Given the description of an element on the screen output the (x, y) to click on. 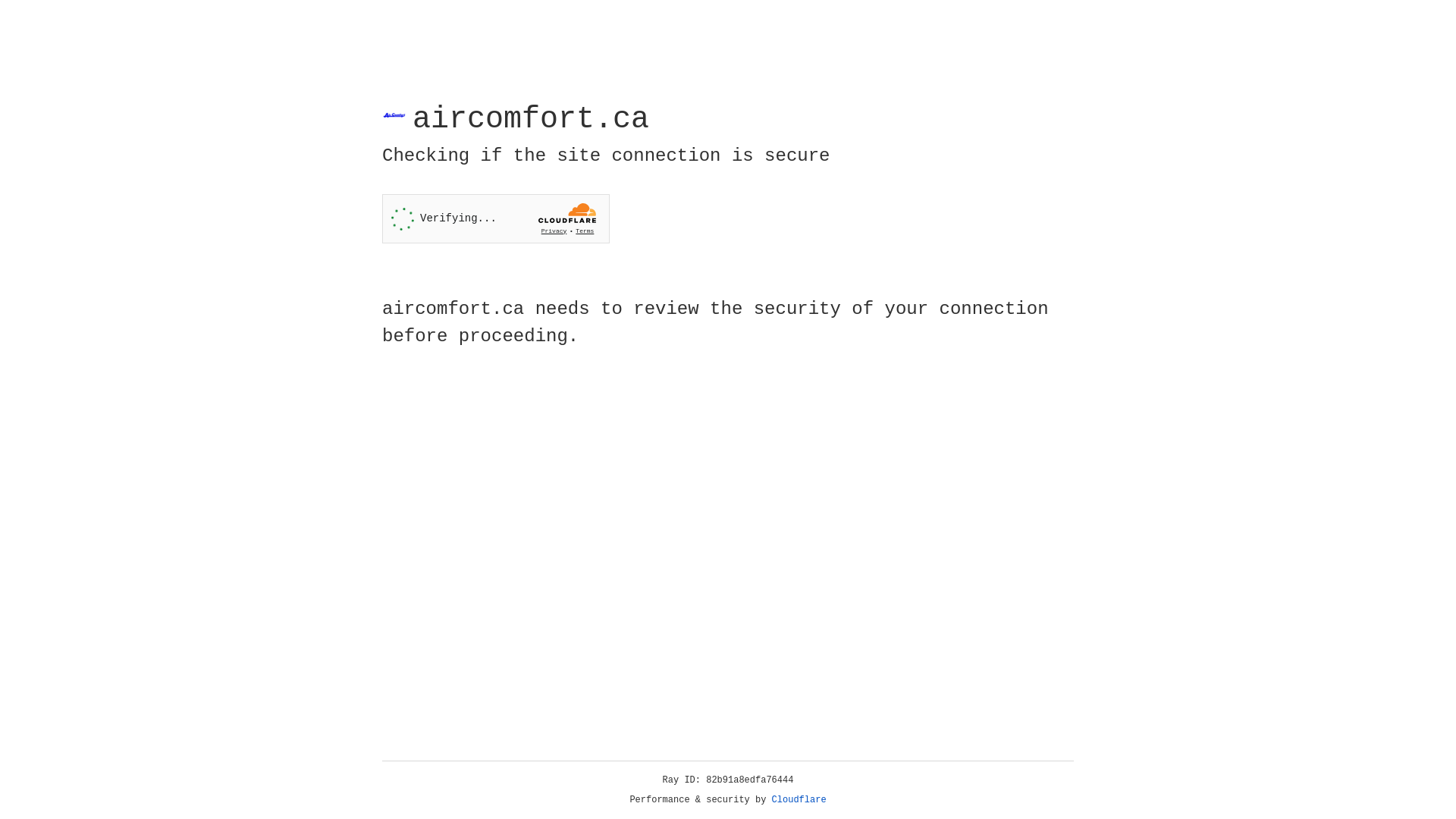
Cloudflare Element type: text (798, 799)
Widget containing a Cloudflare security challenge Element type: hover (495, 218)
